Given the description of an element on the screen output the (x, y) to click on. 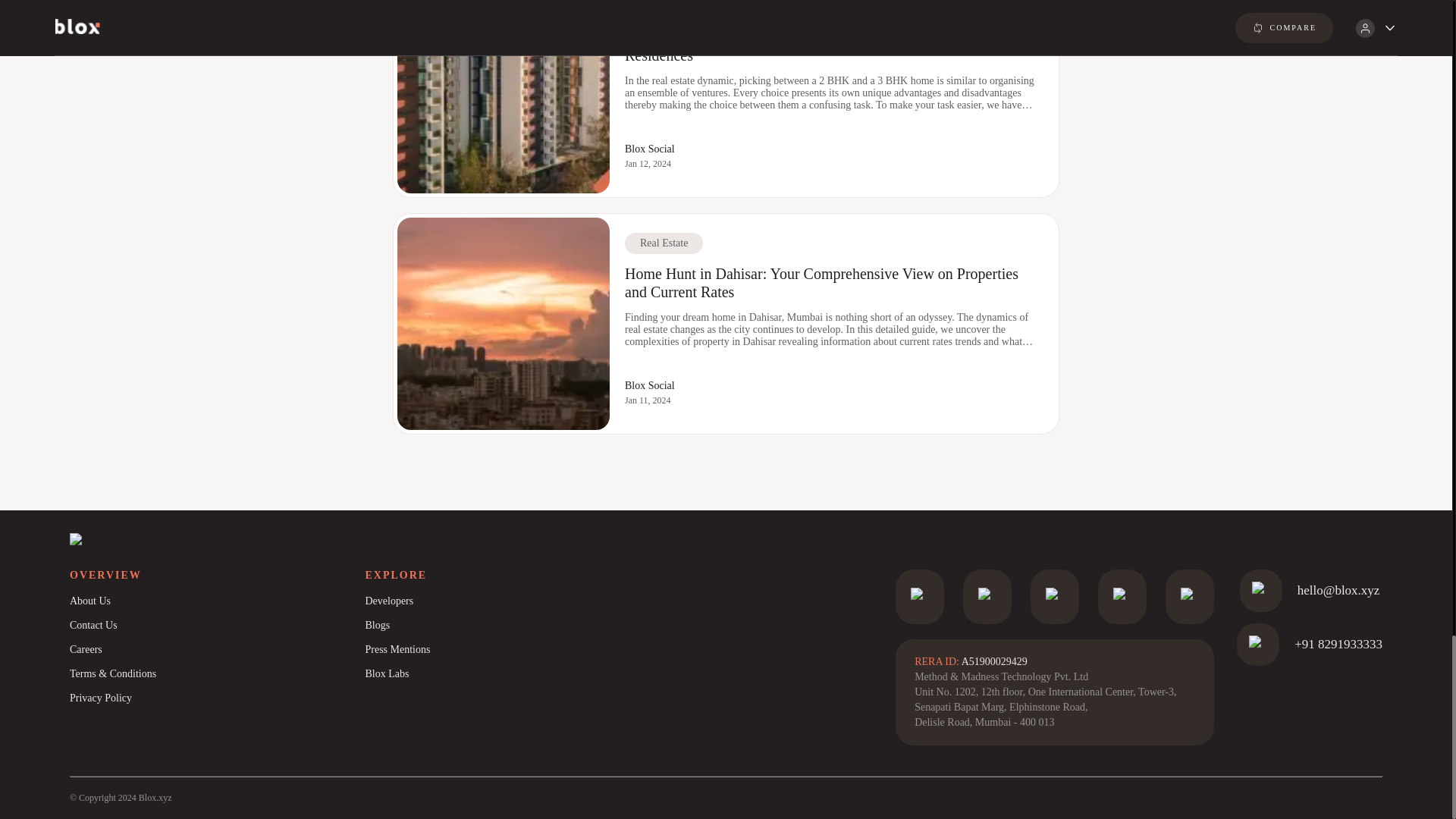
Privacy Policy (217, 698)
About Us (217, 600)
Developers (512, 600)
Blogs (512, 625)
Press Mentions (512, 649)
Careers (217, 649)
Contact Us (217, 625)
Blox Labs (512, 673)
